Given the description of an element on the screen output the (x, y) to click on. 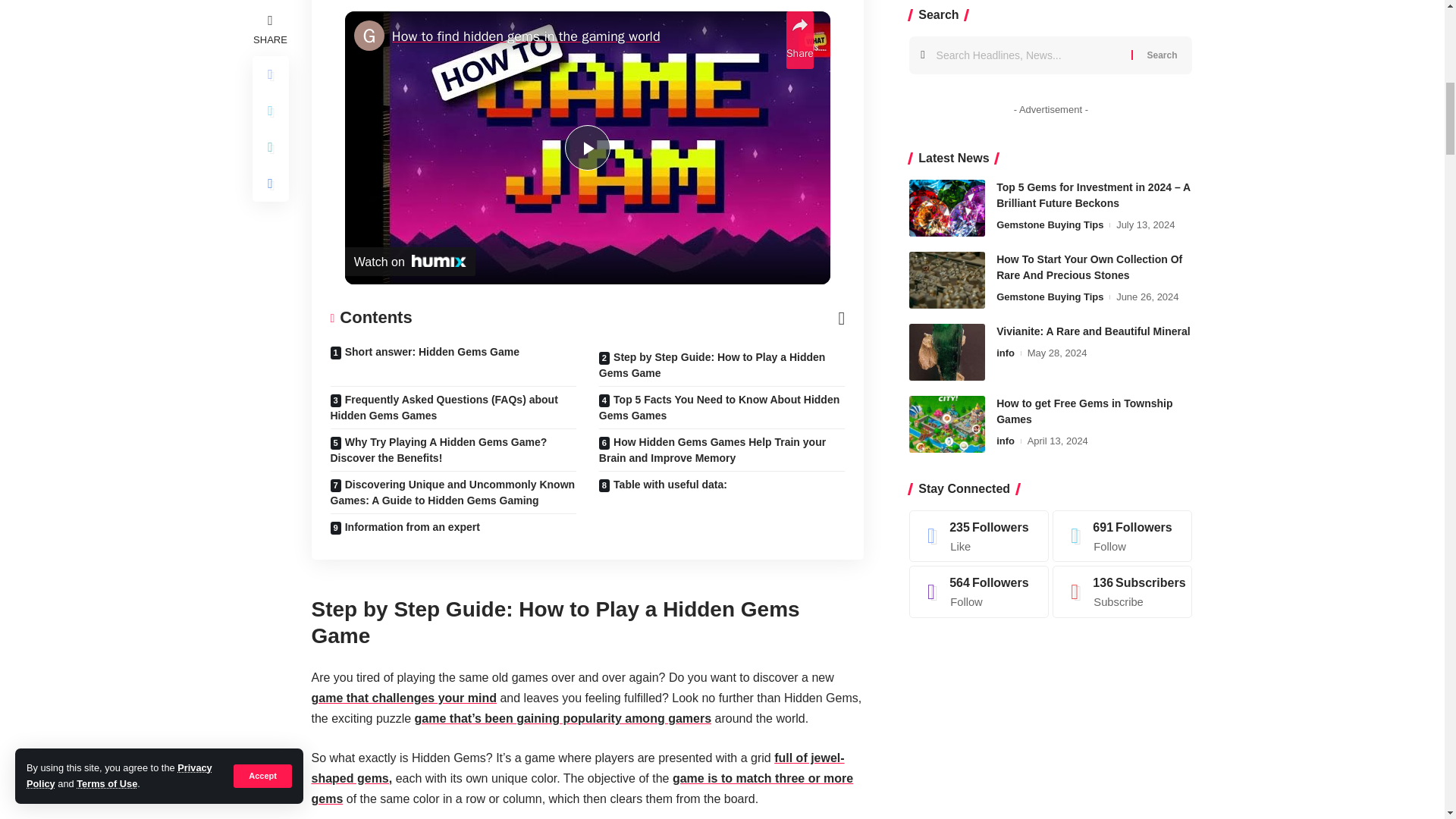
Play Video (587, 147)
